Given the description of an element on the screen output the (x, y) to click on. 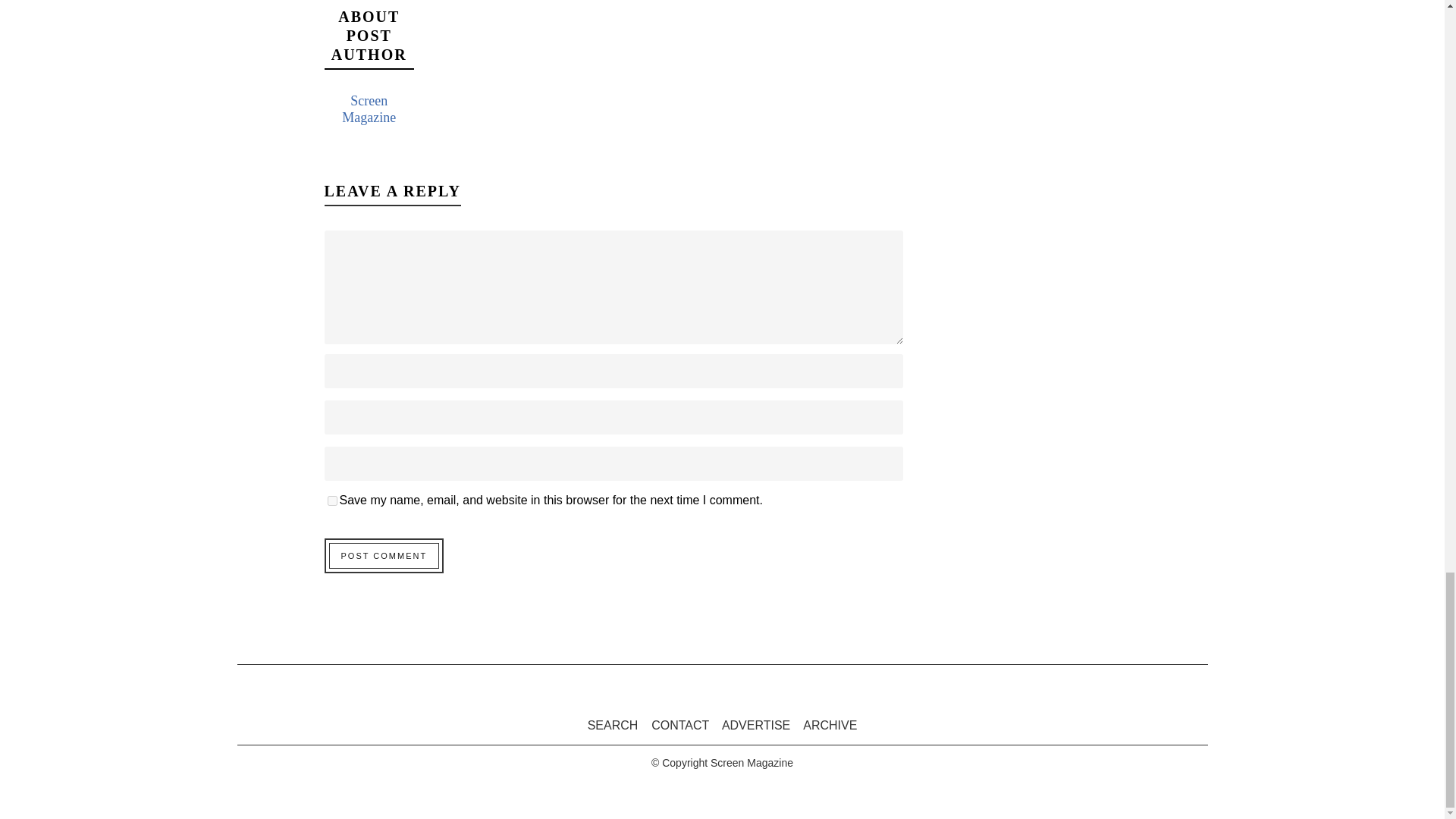
Post Comment (384, 555)
yes (332, 501)
Posts by Screen Magazine (369, 109)
